Given the description of an element on the screen output the (x, y) to click on. 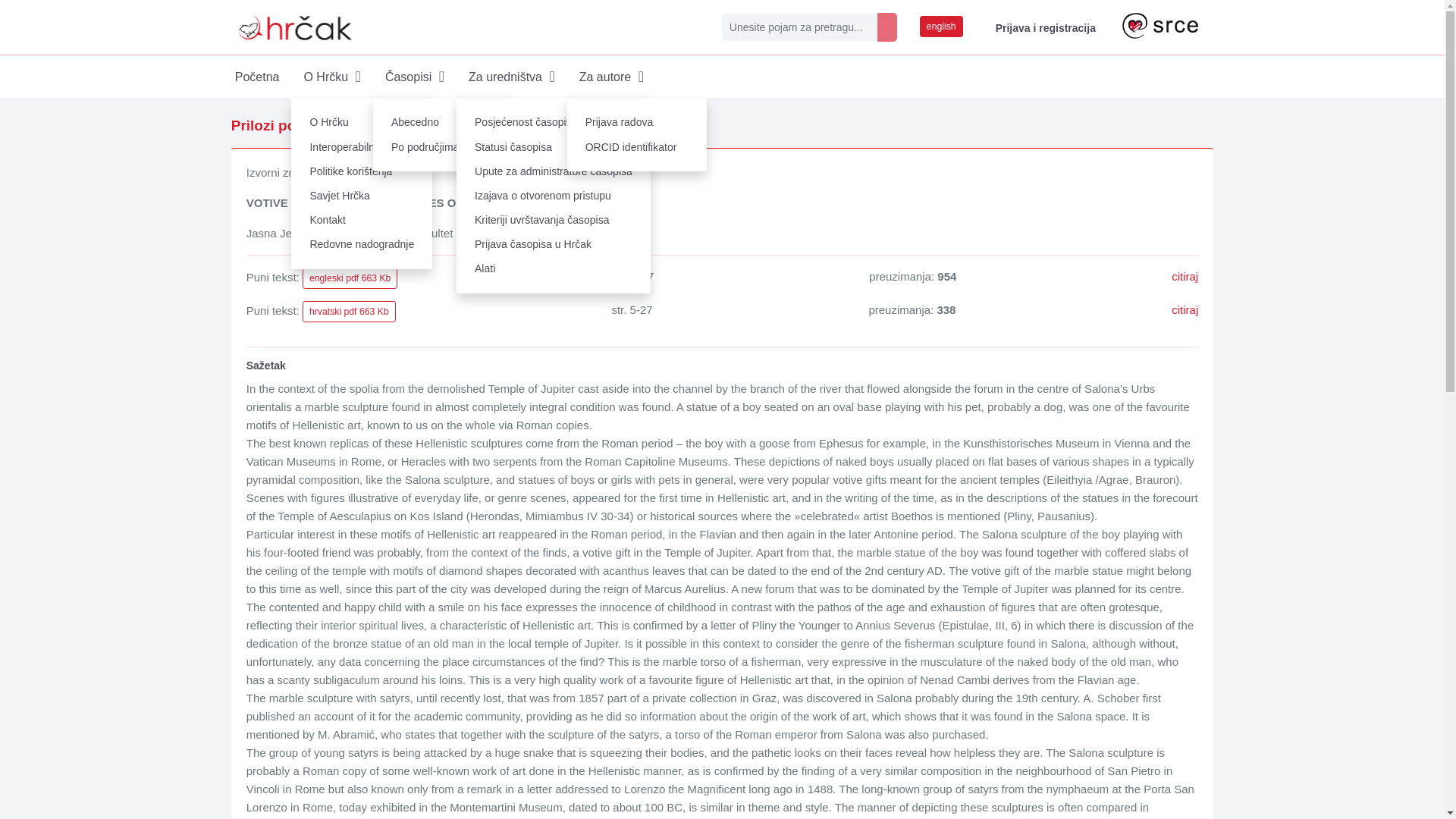
Prijava radova (636, 122)
english (941, 25)
citiraj (1185, 276)
Vol. 43 No. 1 (544, 125)
engleski pdf 663 Kb (349, 278)
ORCID identifikator (636, 146)
Kontakt (361, 220)
Alati (553, 269)
Prilozi povijesti umjetnosti u Dalmaciji (362, 125)
Izajava o otvorenom pristupu (553, 195)
